Given the description of an element on the screen output the (x, y) to click on. 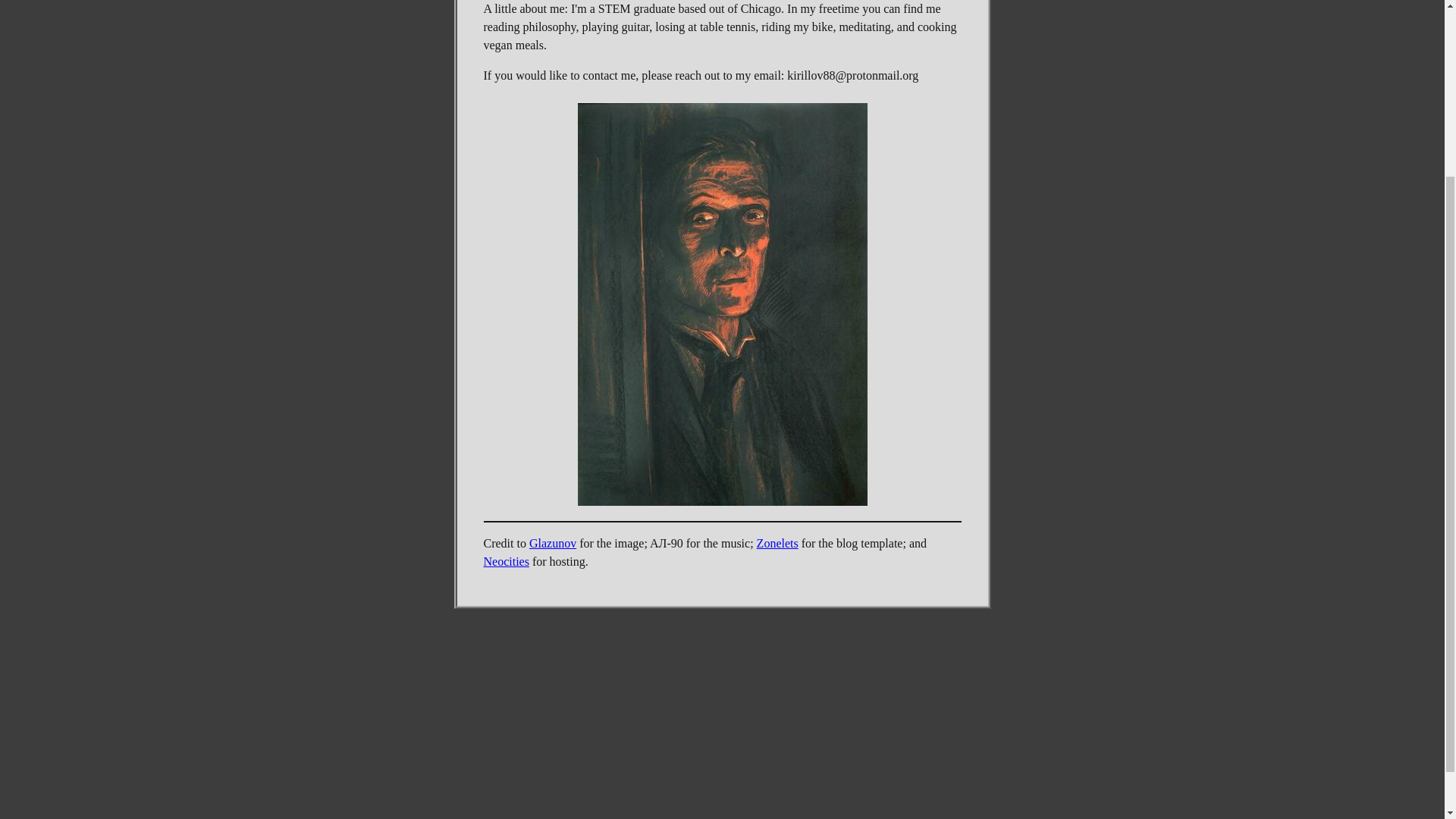
Zonelets (777, 543)
Neocities (506, 561)
YouTube video player (721, 673)
Glazunov (552, 543)
